Given the description of an element on the screen output the (x, y) to click on. 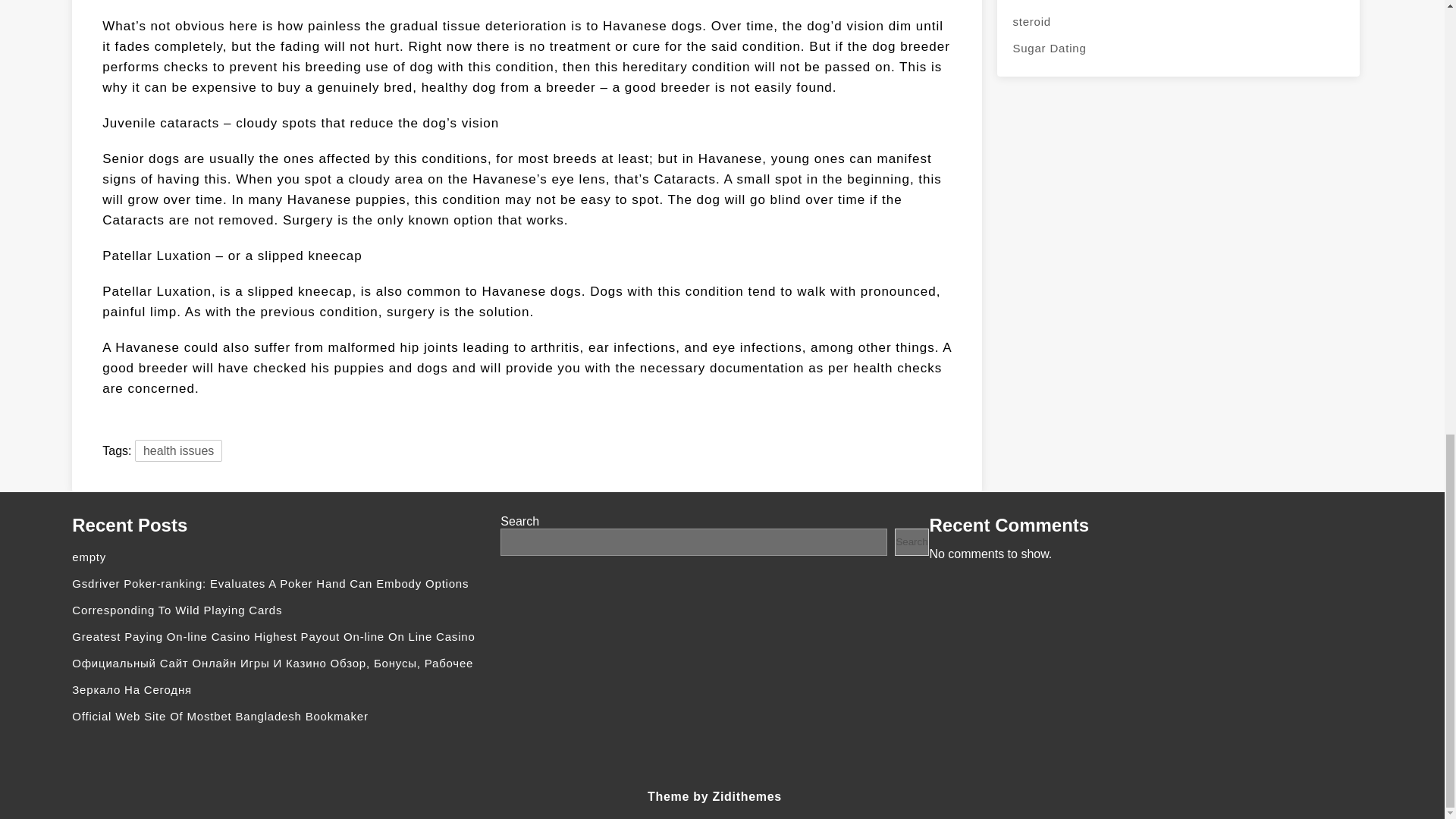
health issues (178, 450)
Skin Care (1177, 4)
steroid (1177, 21)
